Given the description of an element on the screen output the (x, y) to click on. 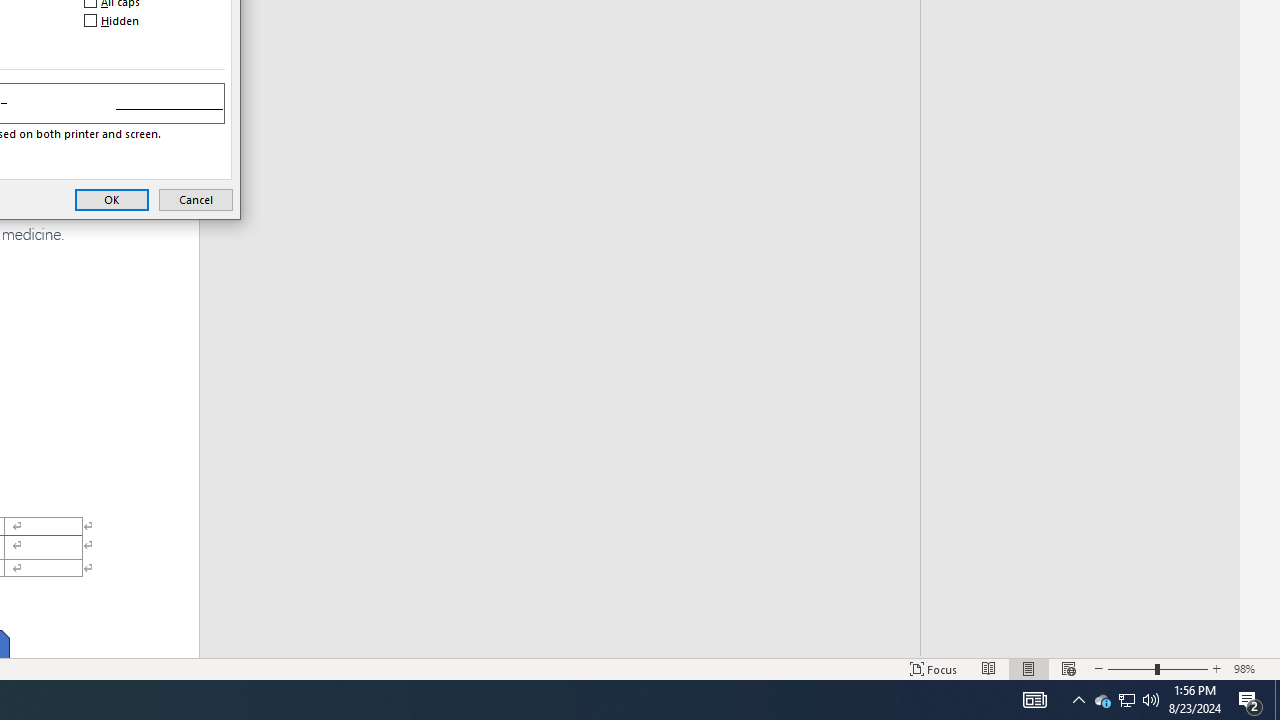
Read Mode (1102, 699)
Action Center, 2 new notifications (1126, 699)
Show desktop (988, 668)
Zoom Out (1250, 699)
Focus  (1277, 699)
Notification Chevron (1131, 668)
Zoom In (934, 668)
OK (1078, 699)
User Promoted Notification Area (1217, 668)
Cancel (111, 199)
Web Layout (1126, 699)
